Given the description of an element on the screen output the (x, y) to click on. 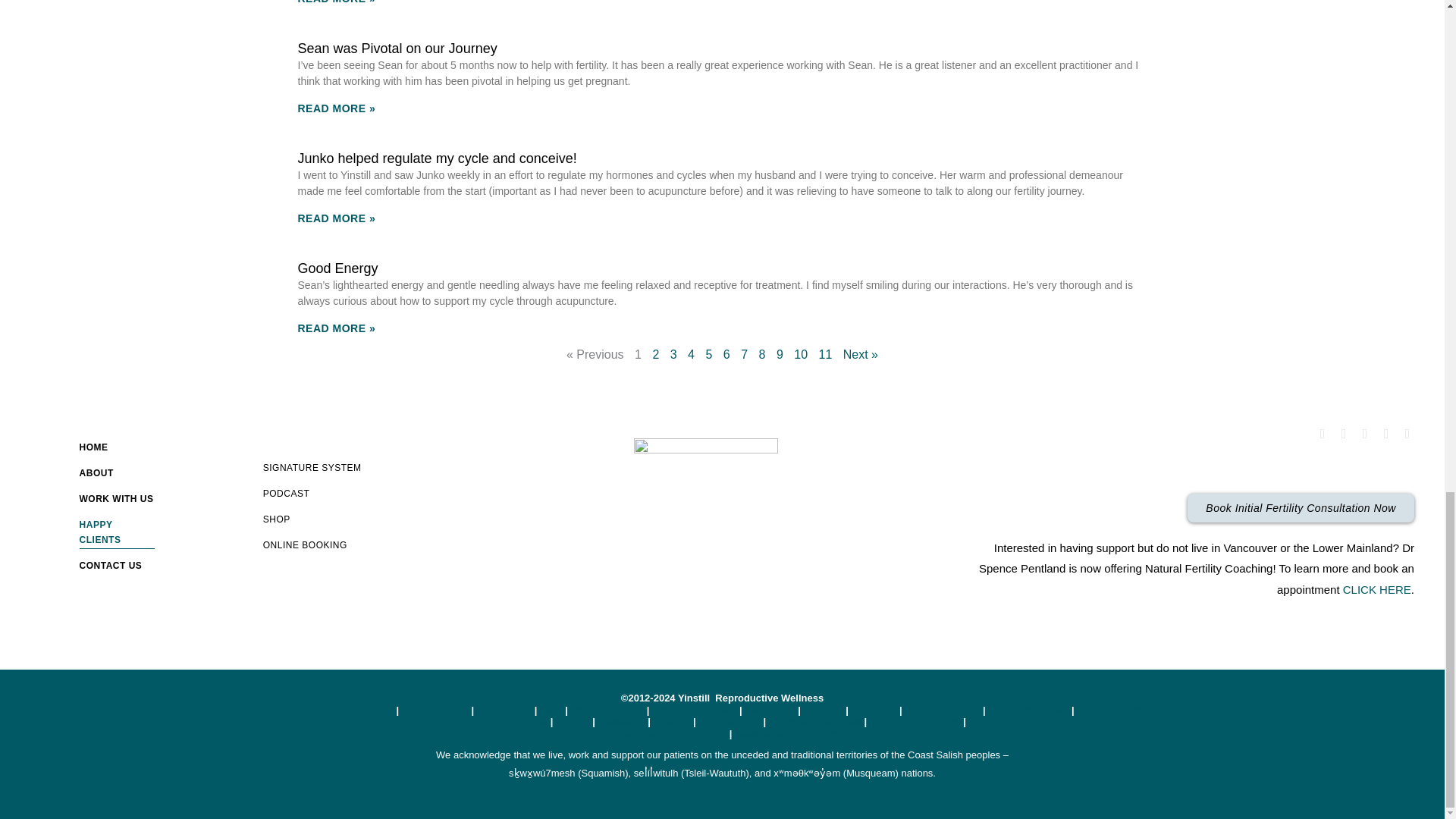
Sean was Pivotal on our Journey (396, 48)
